Given the description of an element on the screen output the (x, y) to click on. 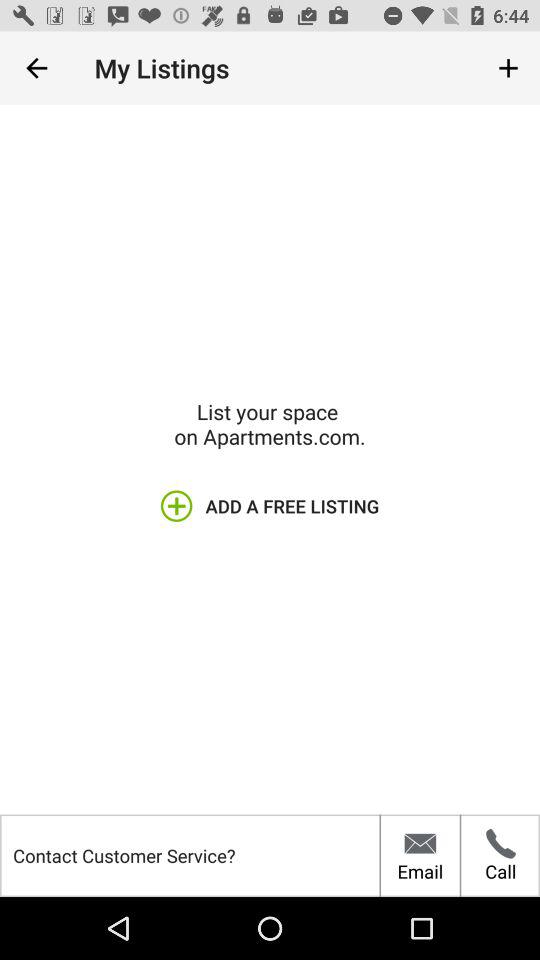
tap item at the top right corner (508, 67)
